Given the description of an element on the screen output the (x, y) to click on. 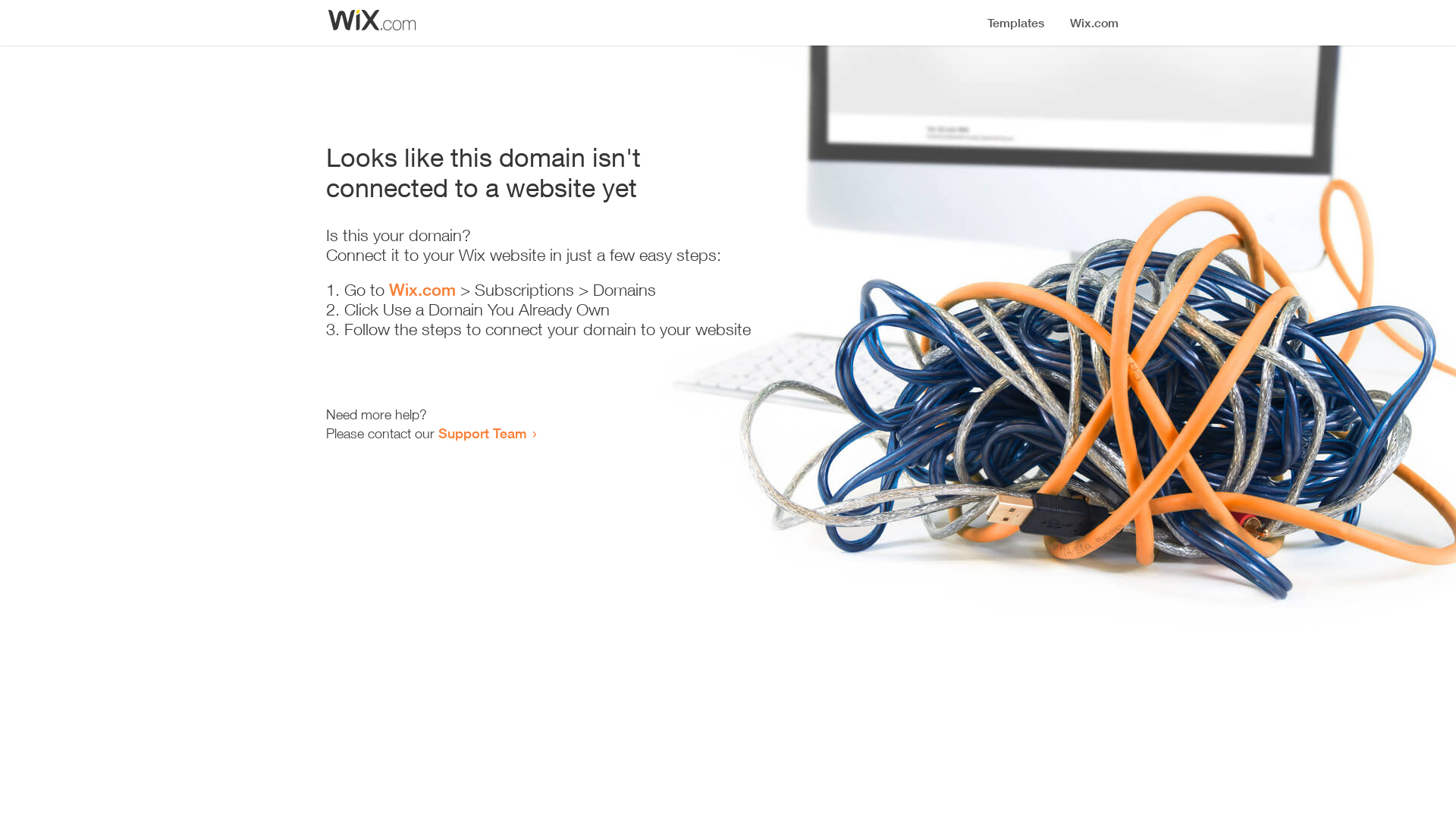
Support Team Element type: text (482, 432)
Wix.com Element type: text (422, 289)
